Given the description of an element on the screen output the (x, y) to click on. 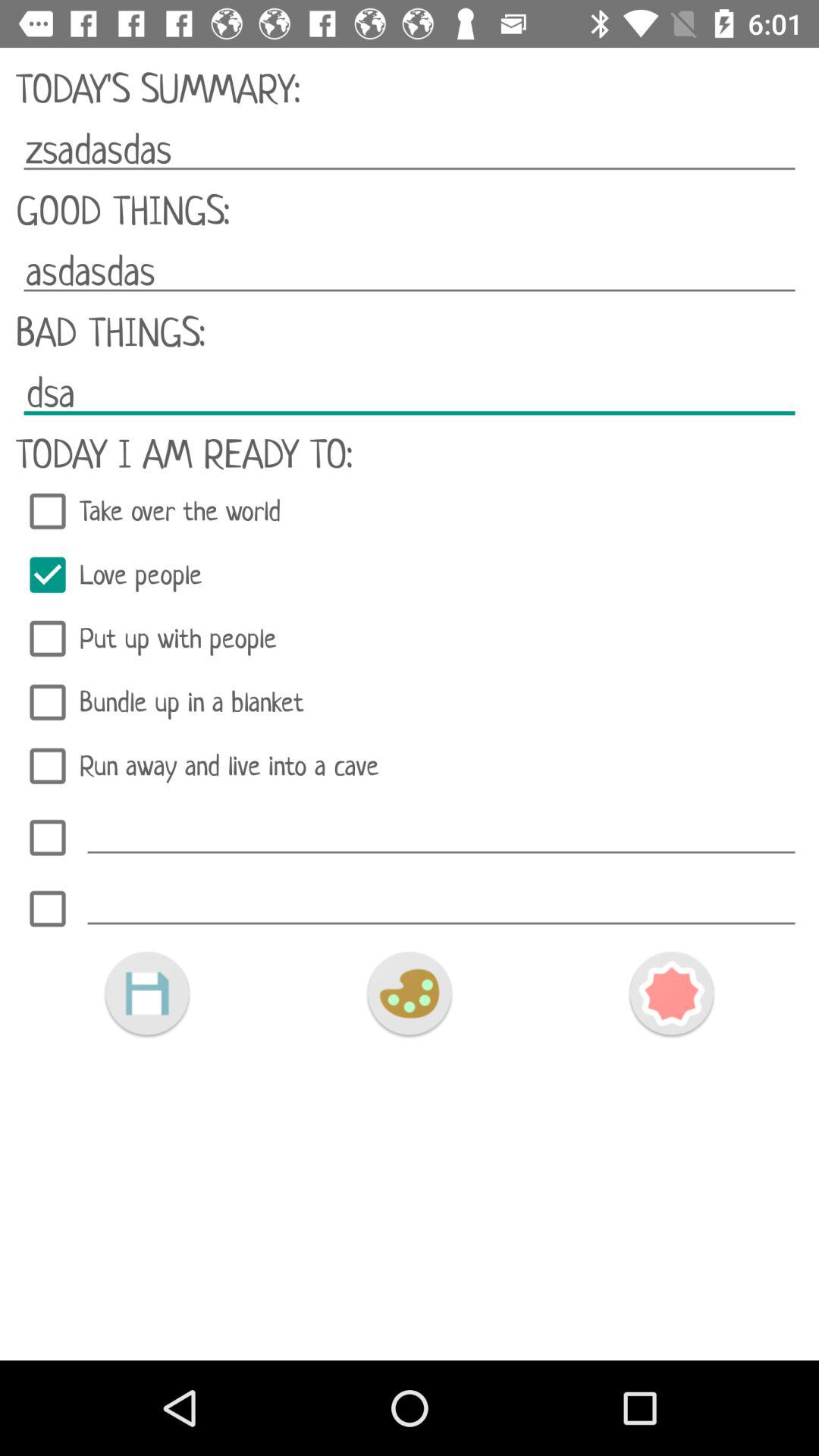
check off (47, 837)
